Given the description of an element on the screen output the (x, y) to click on. 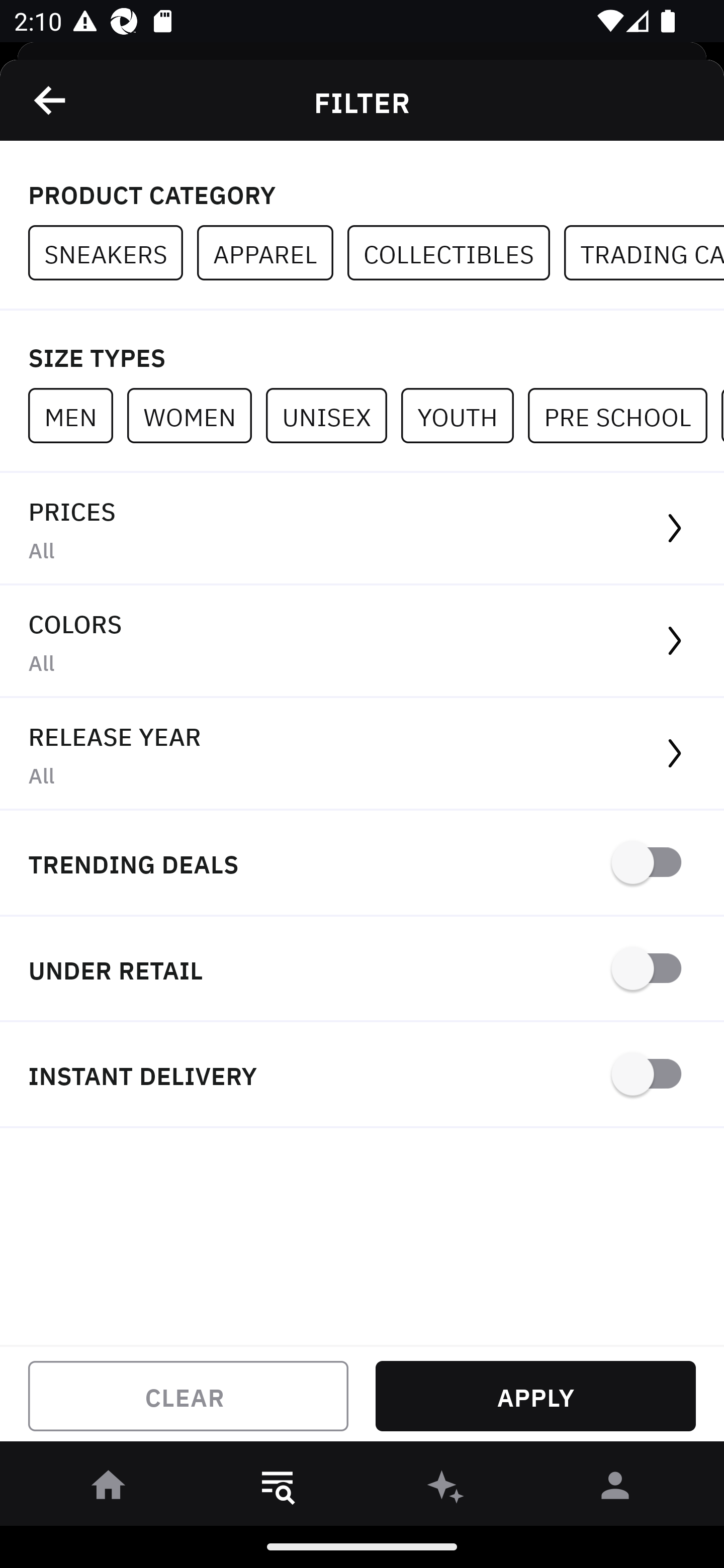
 (50, 100)
SNEAKERS (112, 252)
APPAREL (271, 252)
COLLECTIBLES (455, 252)
TRADING CARDS (643, 252)
MEN (77, 415)
WOMEN (196, 415)
UNISEX (333, 415)
YOUTH (464, 415)
PRE SCHOOL (624, 415)
PRICES All (362, 528)
COLORS All (362, 640)
RELEASE YEAR All (362, 753)
TRENDING DEALS (362, 863)
UNDER RETAIL (362, 969)
INSTANT DELIVERY (362, 1075)
CLEAR  (188, 1396)
APPLY (535, 1396)
󰋜 (108, 1488)
󱎸 (277, 1488)
󰫢 (446, 1488)
󰀄 (615, 1488)
